Given the description of an element on the screen output the (x, y) to click on. 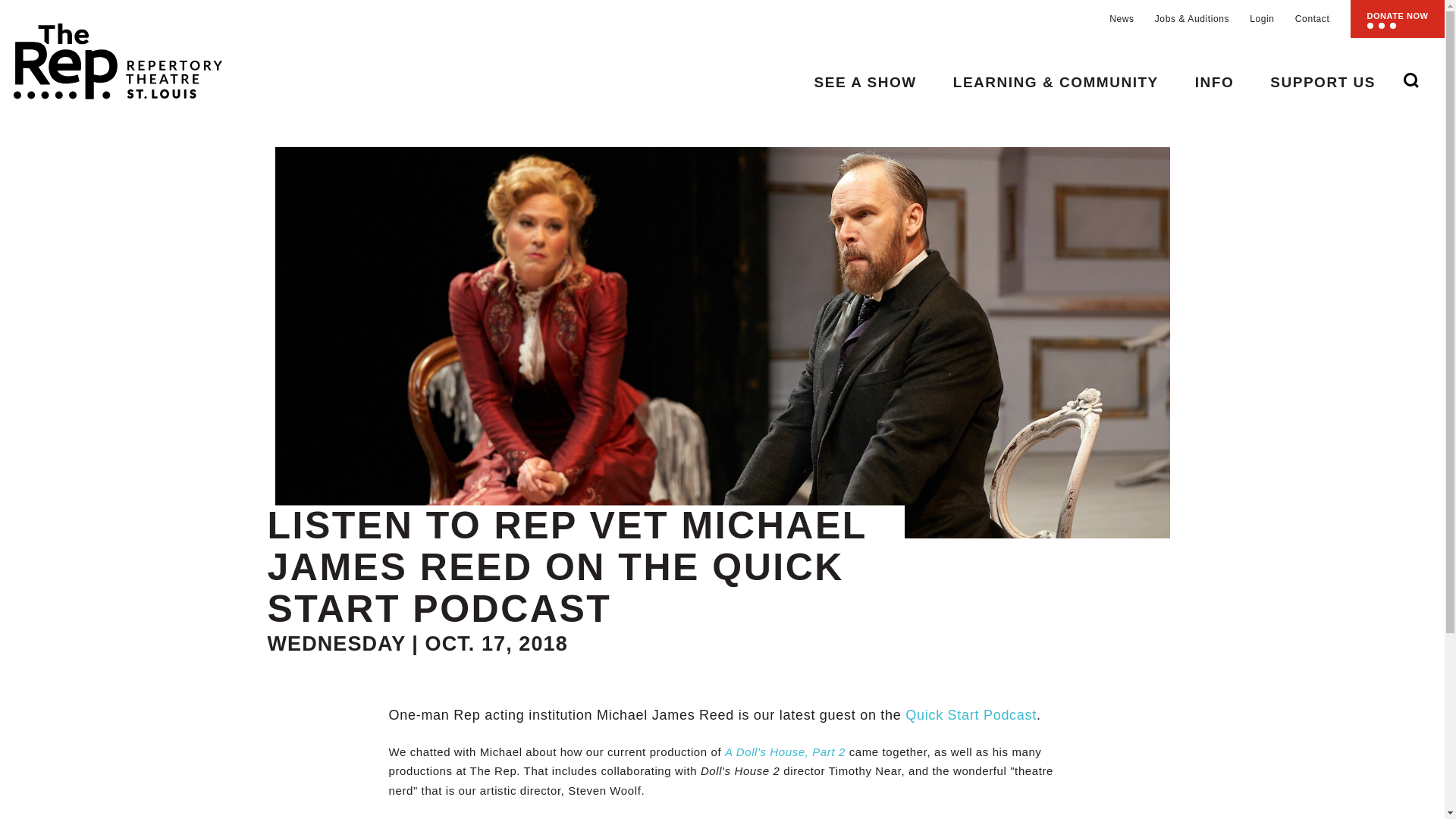
A Doll's House, Part 2 (785, 751)
INFO (1214, 82)
Repertory Theatre of St. Louis (111, 54)
Login (1261, 18)
SUPPORT US (1322, 82)
Quick Start Podcast (970, 714)
SEE A SHOW (865, 82)
News (1121, 18)
Repertory Theatre of St. Louis (111, 54)
